Given the description of an element on the screen output the (x, y) to click on. 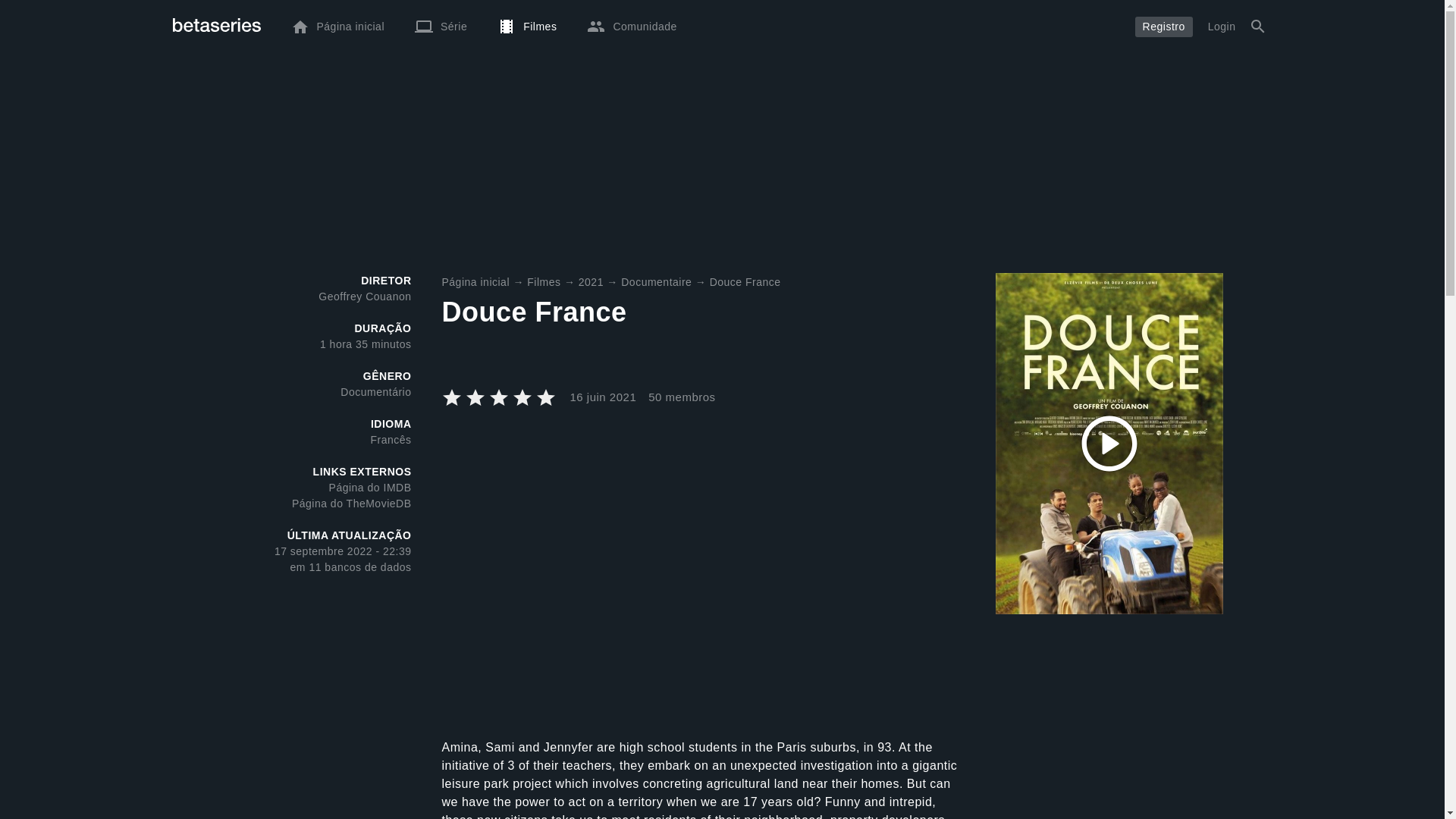
Login (1221, 26)
Douce France (745, 282)
Registro (1163, 26)
2021 (591, 282)
Filmes (543, 282)
Comunidade (631, 26)
Documentaire (656, 282)
Filmes (526, 26)
Geoffrey Couanon (364, 296)
